Given the description of an element on the screen output the (x, y) to click on. 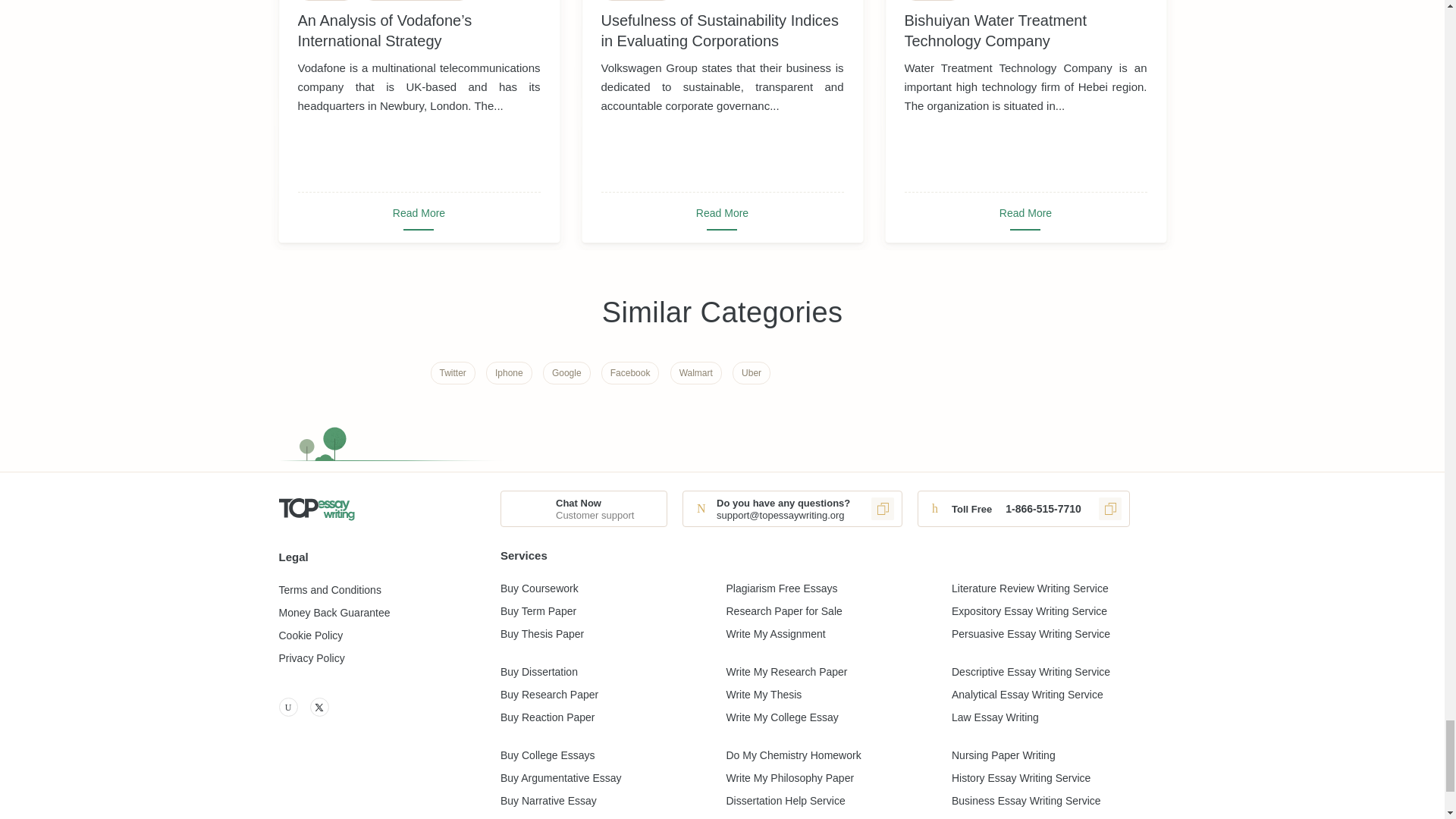
Copied to clipboard (1110, 508)
Copied to clipboard (881, 508)
